Given the description of an element on the screen output the (x, y) to click on. 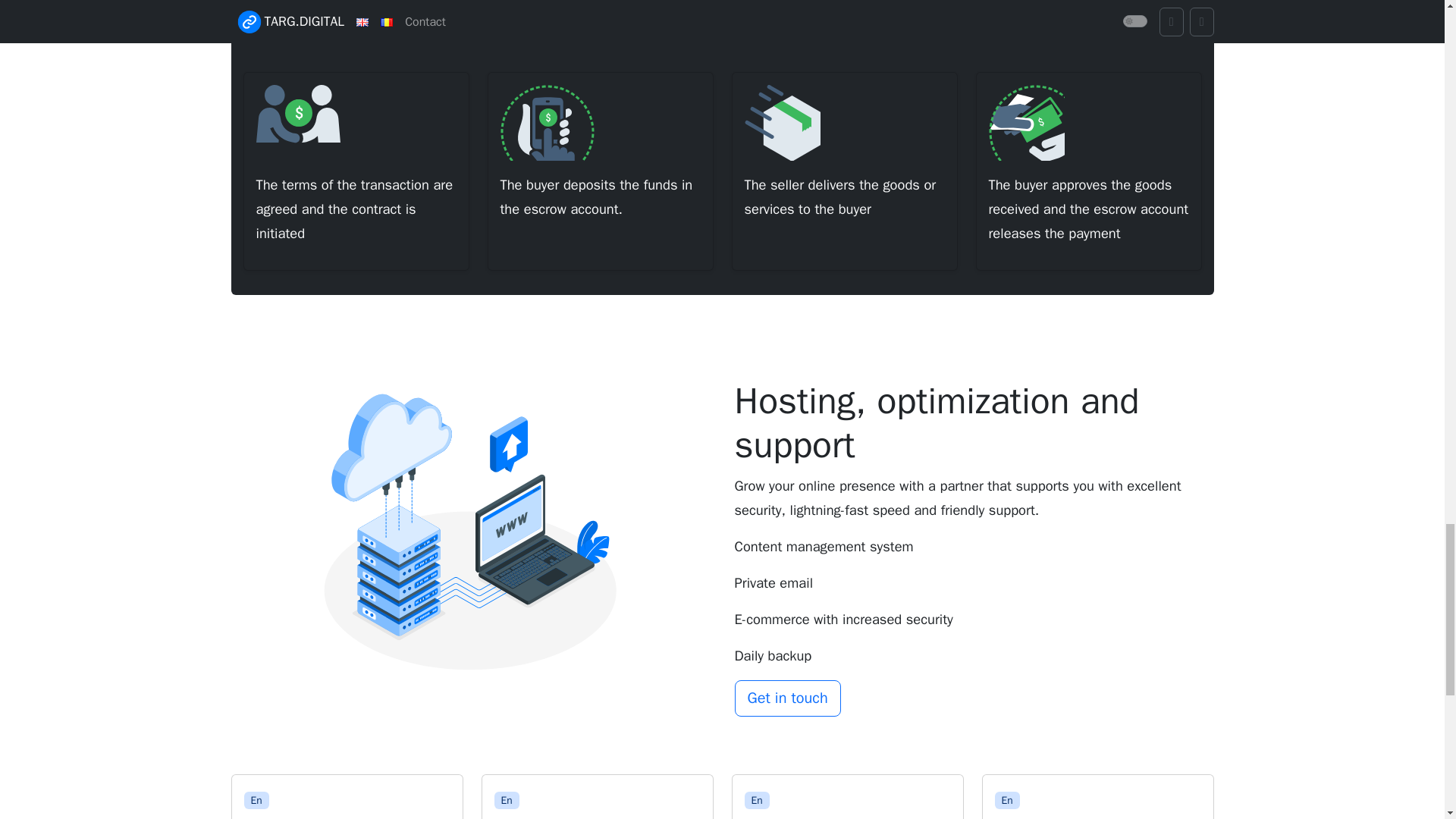
En (256, 800)
Get in touch (786, 698)
En (757, 800)
En (507, 800)
En (1007, 800)
